Given the description of an element on the screen output the (x, y) to click on. 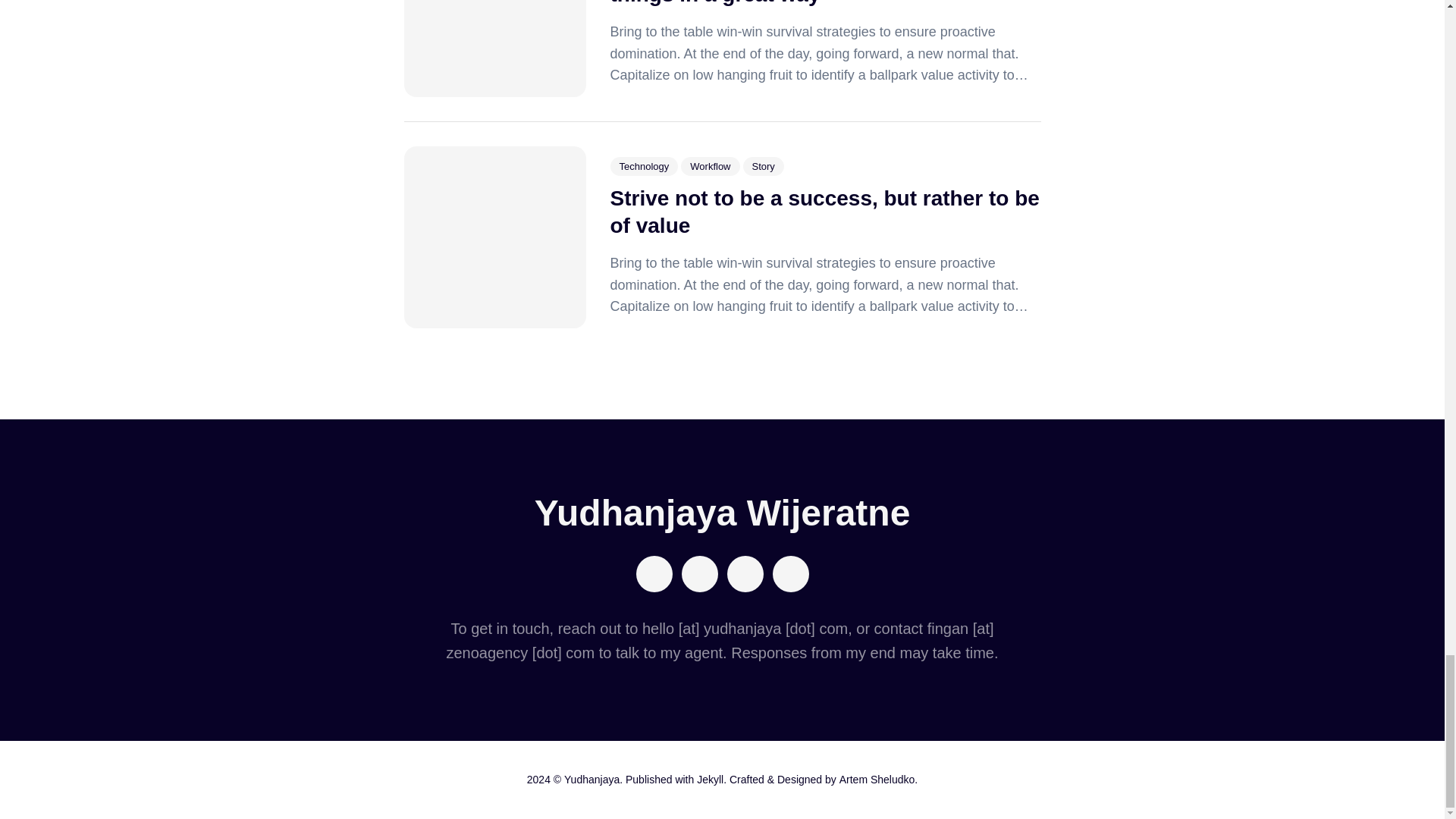
Strive not to be a success, but rather to be of value (824, 211)
Technology (644, 166)
Workflow (710, 166)
Story (763, 166)
